Given the description of an element on the screen output the (x, y) to click on. 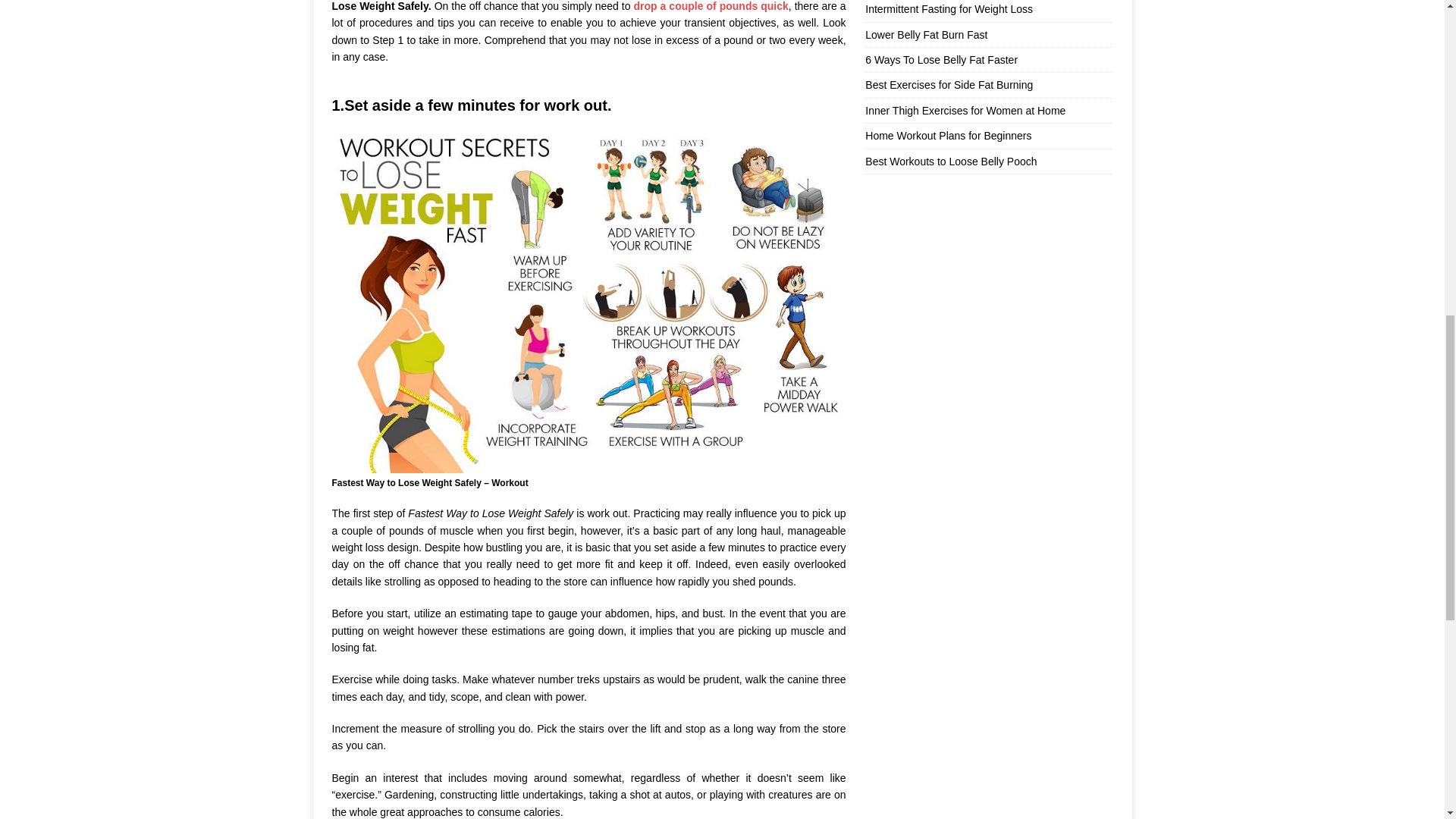
Advertisement (988, 288)
drop a couple of pounds quick (711, 6)
Intermittent Fasting for Weight Loss (948, 9)
